Given the description of an element on the screen output the (x, y) to click on. 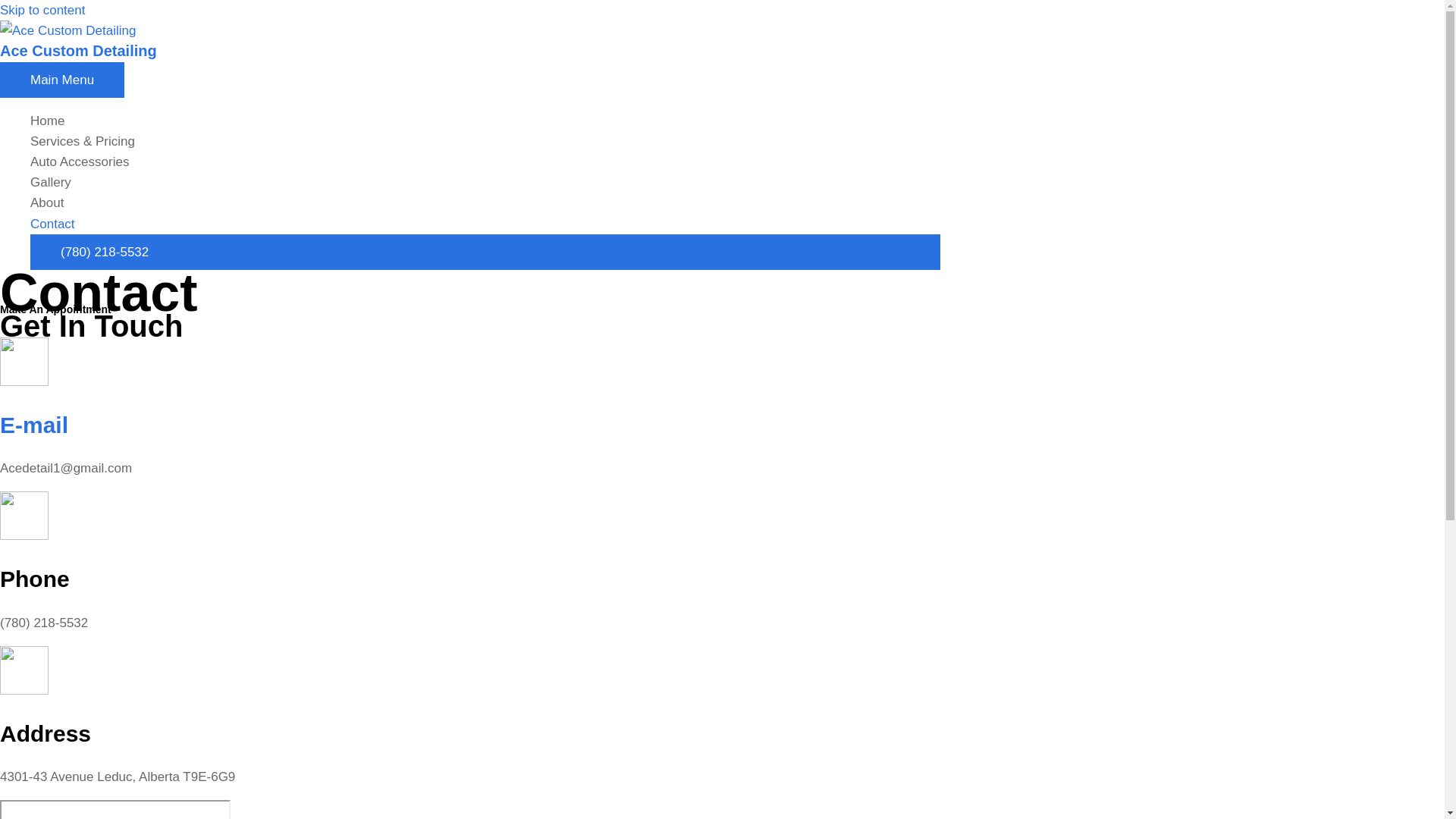
(780) 218-5532 Element type: text (485, 251)
Services & Pricing Element type: text (485, 141)
Auto Accessories Element type: text (485, 161)
Gallery Element type: text (485, 182)
Main Menu Element type: text (62, 79)
Ace Custom Detailing Element type: text (78, 50)
Contact Element type: text (485, 223)
Home Element type: text (485, 120)
Skip to content Element type: text (42, 10)
E-mail Element type: text (34, 424)
About Element type: text (485, 202)
